Given the description of an element on the screen output the (x, y) to click on. 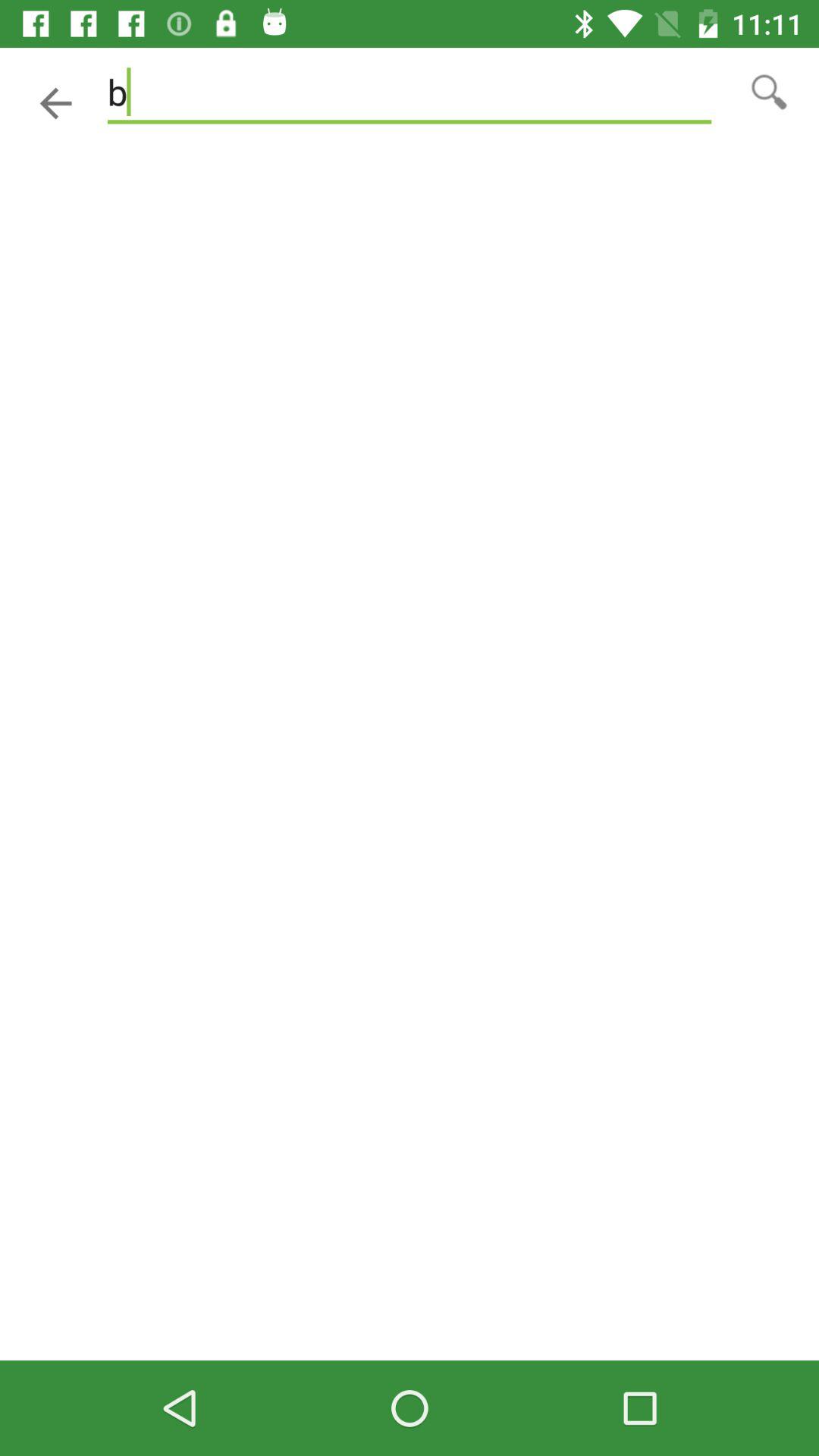
search input (769, 91)
